Given the description of an element on the screen output the (x, y) to click on. 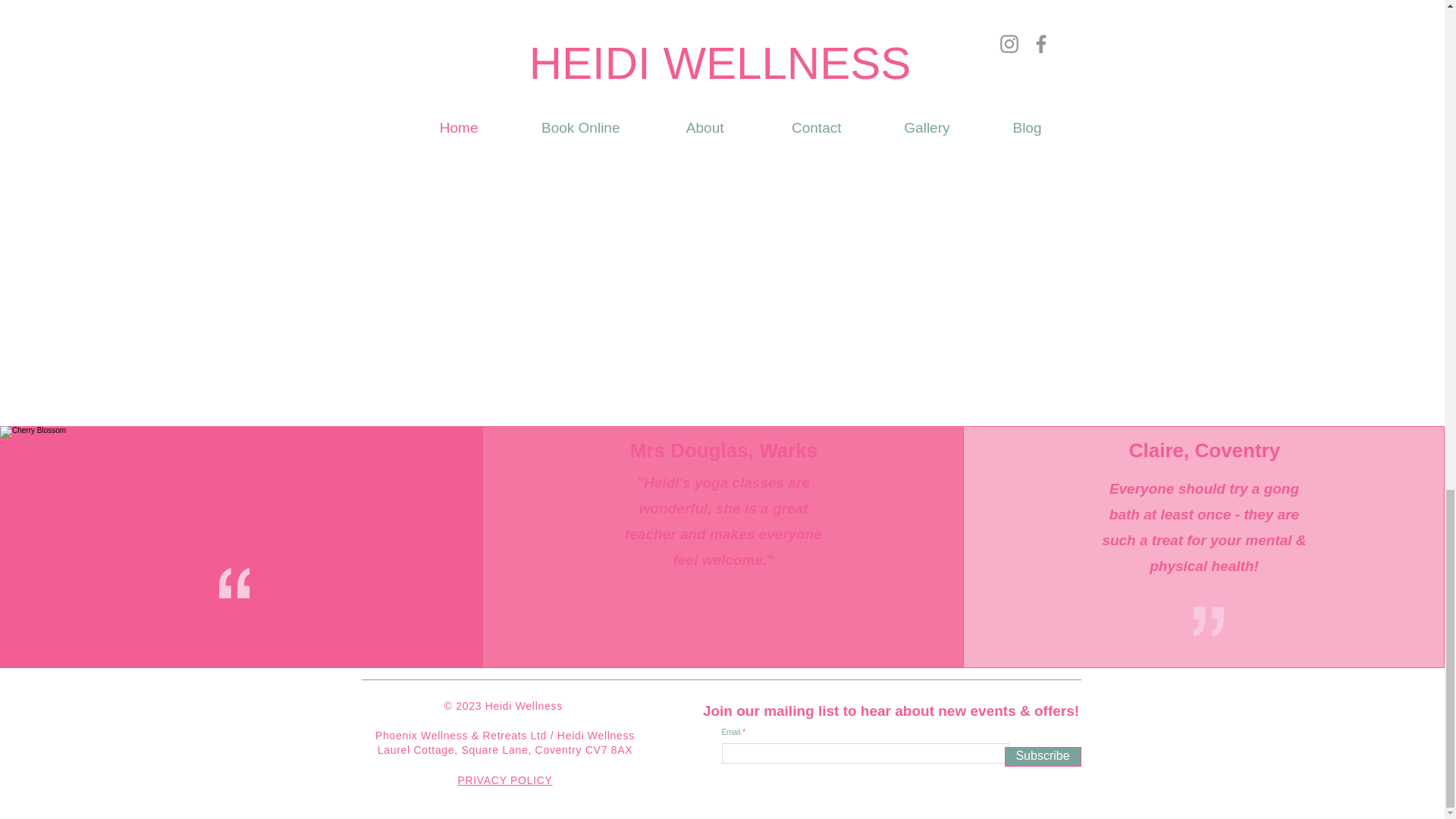
PRIVACY POLICY (504, 779)
Subscribe (1042, 756)
